Given the description of an element on the screen output the (x, y) to click on. 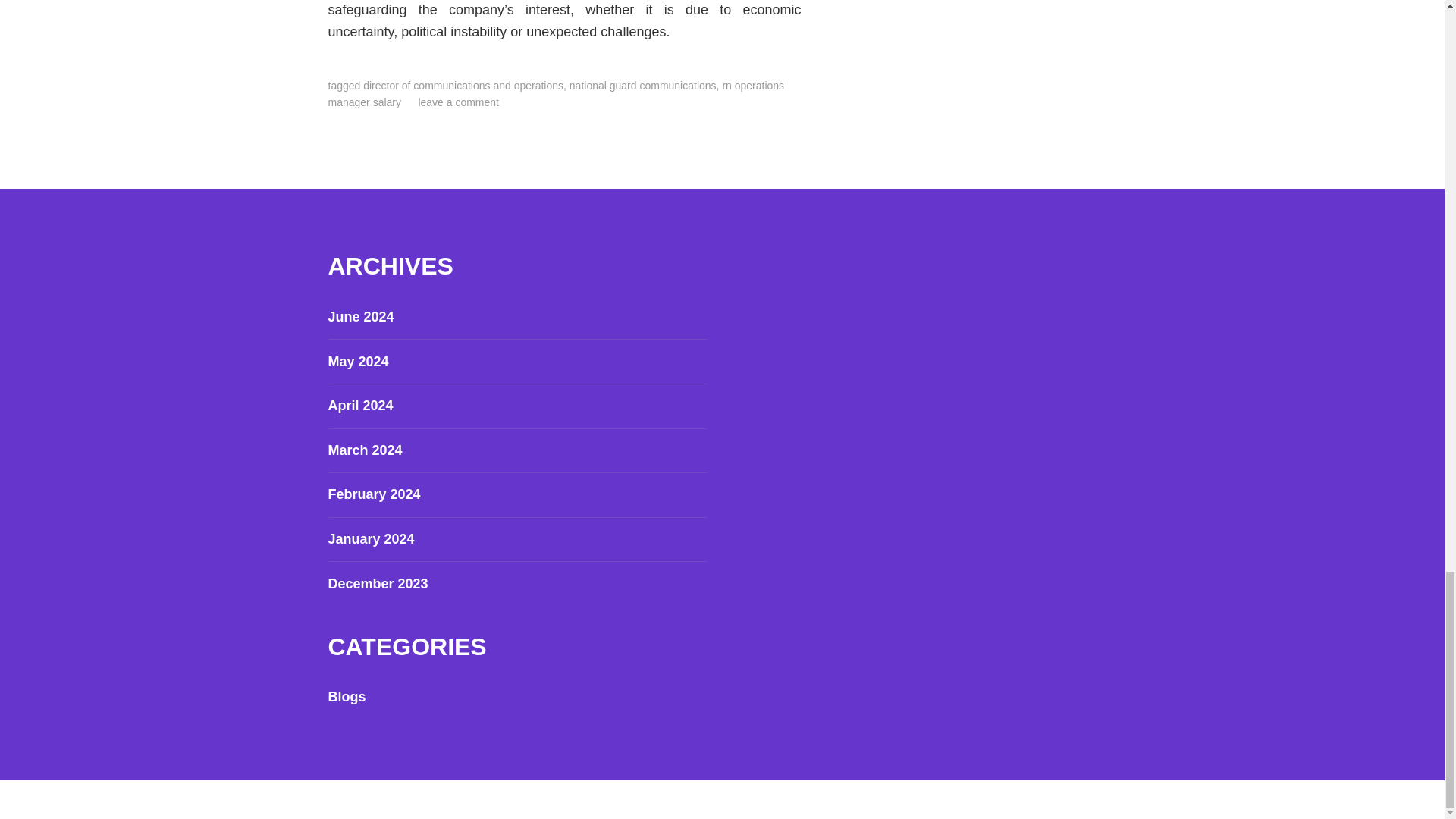
December 2023 (377, 583)
national guard communications (642, 85)
rn operations manager salary (555, 93)
May 2024 (357, 361)
February 2024 (373, 494)
Blogs (346, 696)
leave a comment (458, 102)
January 2024 (370, 539)
April 2024 (360, 405)
director of communications and operations (462, 85)
